Given the description of an element on the screen output the (x, y) to click on. 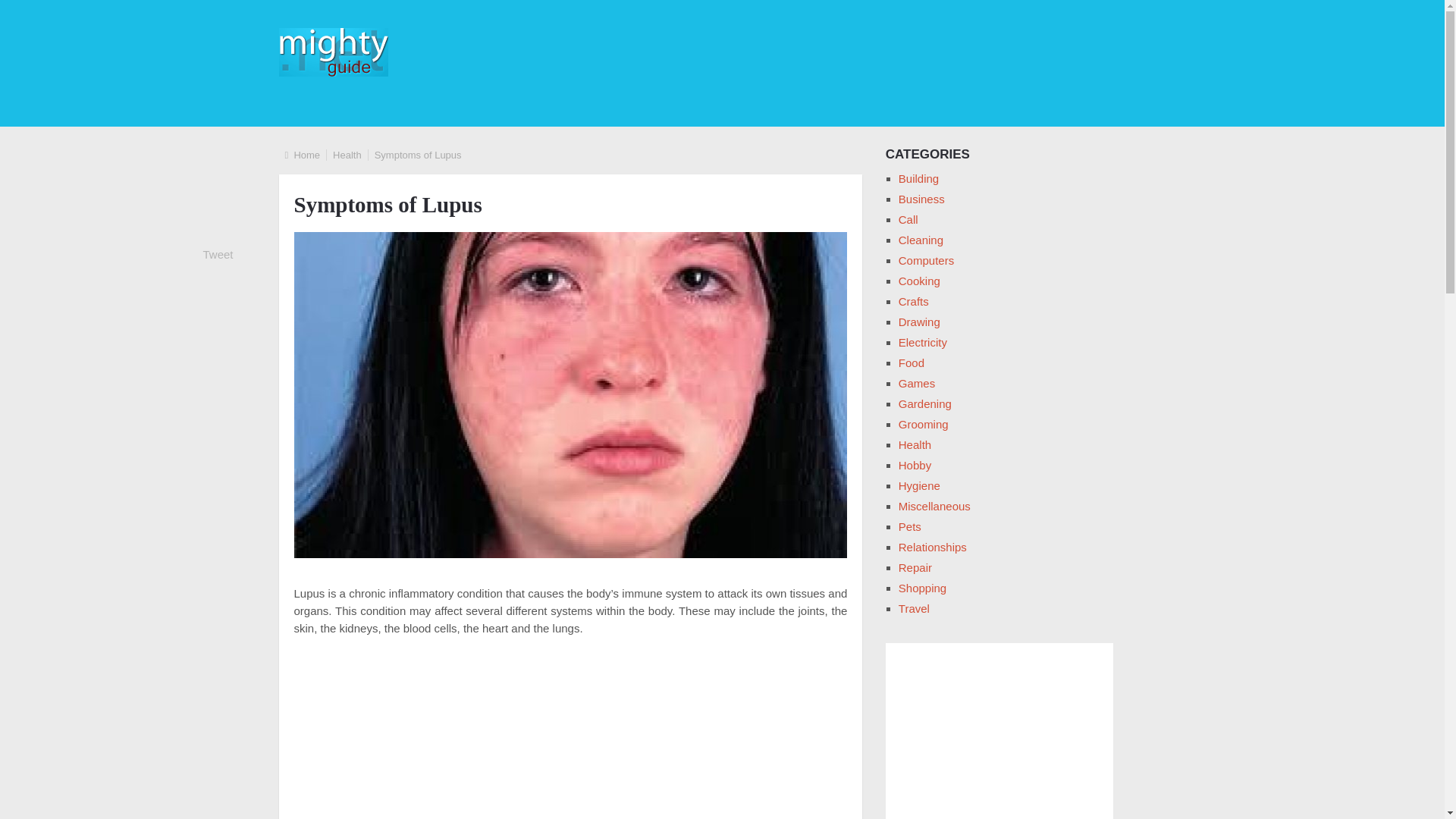
Cooking (919, 280)
Crafts (913, 300)
Drawing (919, 321)
Pets (909, 526)
Hobby (914, 464)
Home (307, 154)
Food (911, 362)
Repair (914, 567)
Shopping (922, 587)
Call (908, 219)
Electricity (922, 341)
Advertisement (569, 735)
Business (921, 198)
Gardening (925, 403)
Tweet (217, 254)
